Given the description of an element on the screen output the (x, y) to click on. 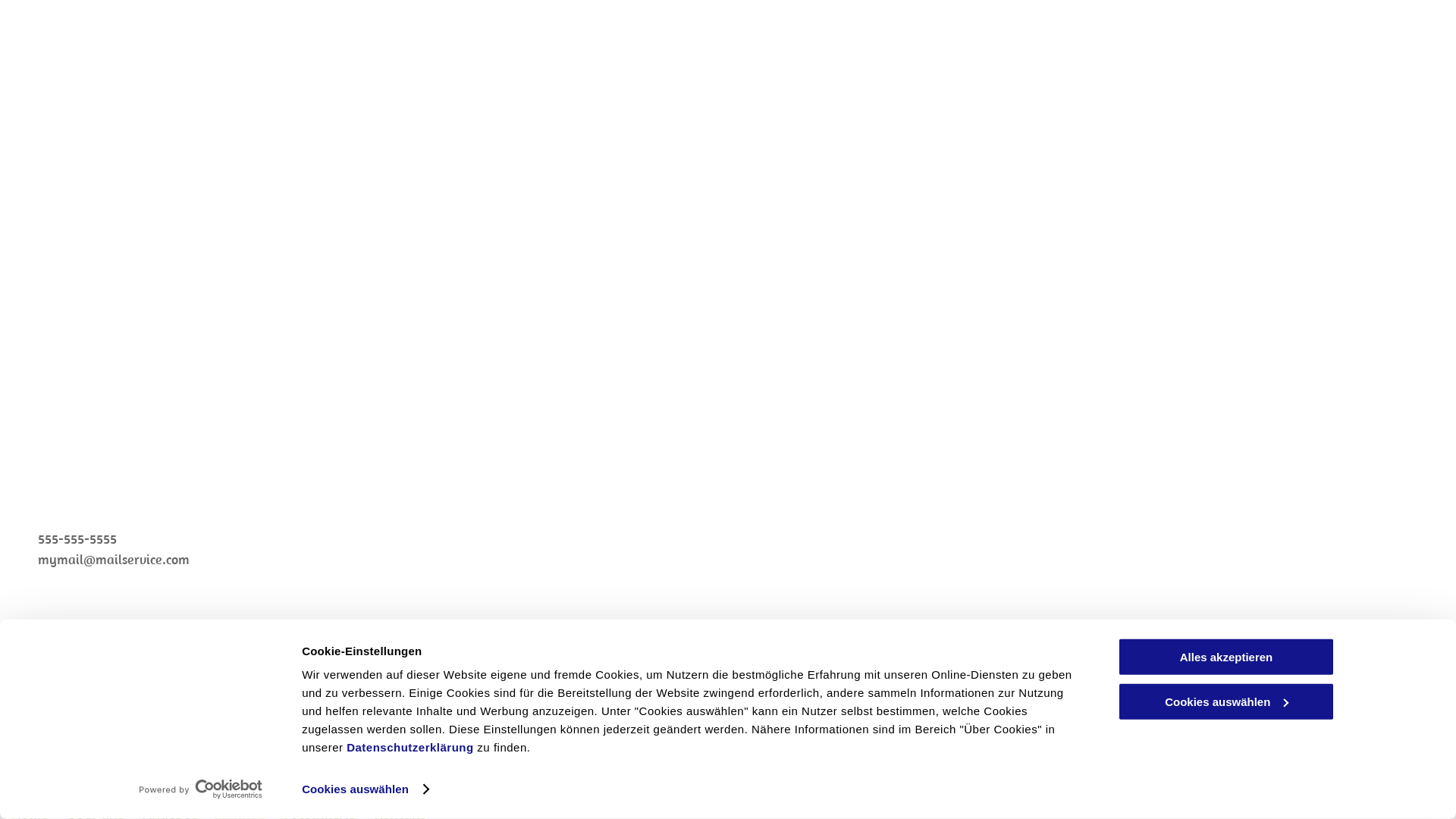
Home Element type: text (376, 179)
Fotogalerie Element type: text (376, 402)
Kontakt Element type: text (376, 458)
Angebot Element type: text (376, 291)
Alles akzeptieren Element type: text (1225, 656)
